Given the description of an element on the screen output the (x, y) to click on. 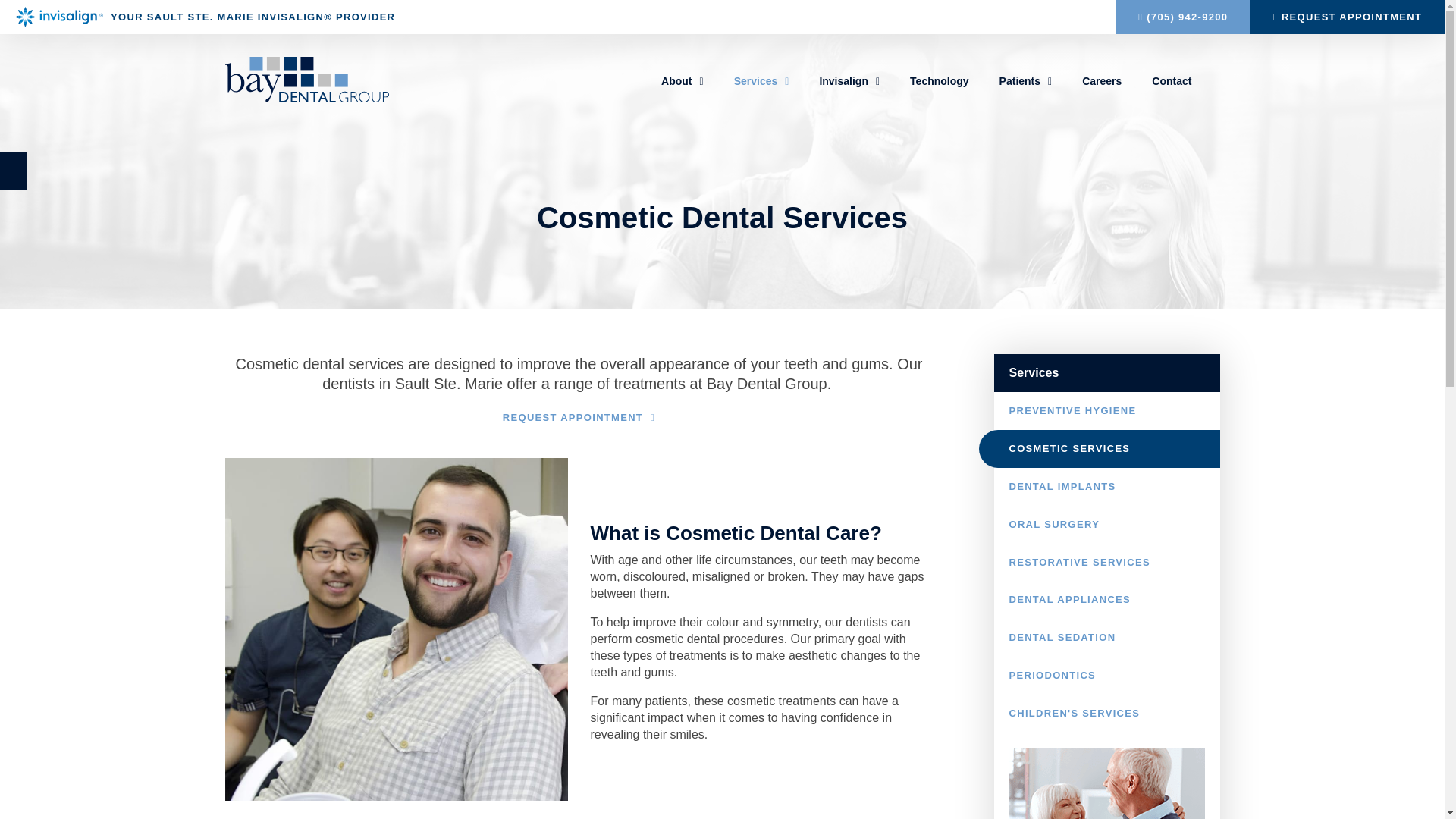
DENTAL IMPLANTS Element type: text (1106, 486)
ORAL SURGERY Element type: text (1106, 524)
Contact Element type: text (1171, 81)
Accessible Version Element type: text (13, 170)
Patients Element type: text (1025, 81)
COSMETIC SERVICES Element type: text (1098, 448)
RESTORATIVE SERVICES Element type: text (1106, 561)
PREVENTIVE HYGIENE Element type: text (1106, 410)
DENTAL SEDATION Element type: text (1106, 637)
REQUEST APPOINTMENT Element type: text (578, 417)
Careers Element type: text (1101, 81)
Services Element type: text (761, 81)
(705) 942-9200 Element type: text (1182, 17)
CHILDREN'S SERVICES Element type: text (1106, 713)
DENTAL APPLIANCES Element type: text (1106, 599)
Technology Element type: text (939, 81)
About Element type: text (682, 81)
Open Search Box Element type: text (1214, 83)
REQUEST APPOINTMENT Element type: text (1347, 17)
PERIODONTICS Element type: text (1106, 675)
Invisalign Element type: text (848, 81)
